Given the description of an element on the screen output the (x, y) to click on. 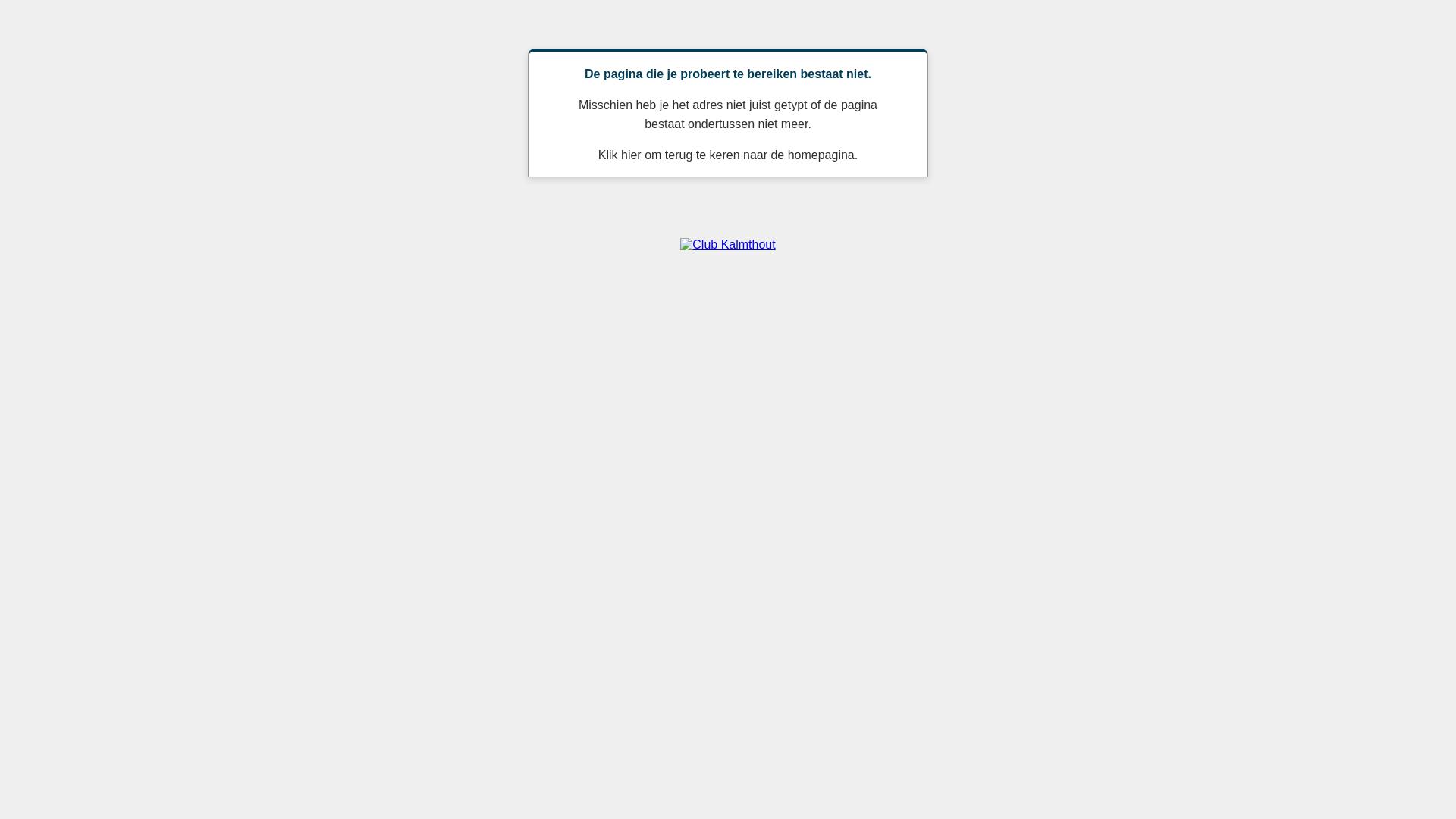
Klik hier om terug te keren naar de homepagina. Element type: text (727, 154)
Keer terug naar de homepagina Element type: hover (727, 244)
